Given the description of an element on the screen output the (x, y) to click on. 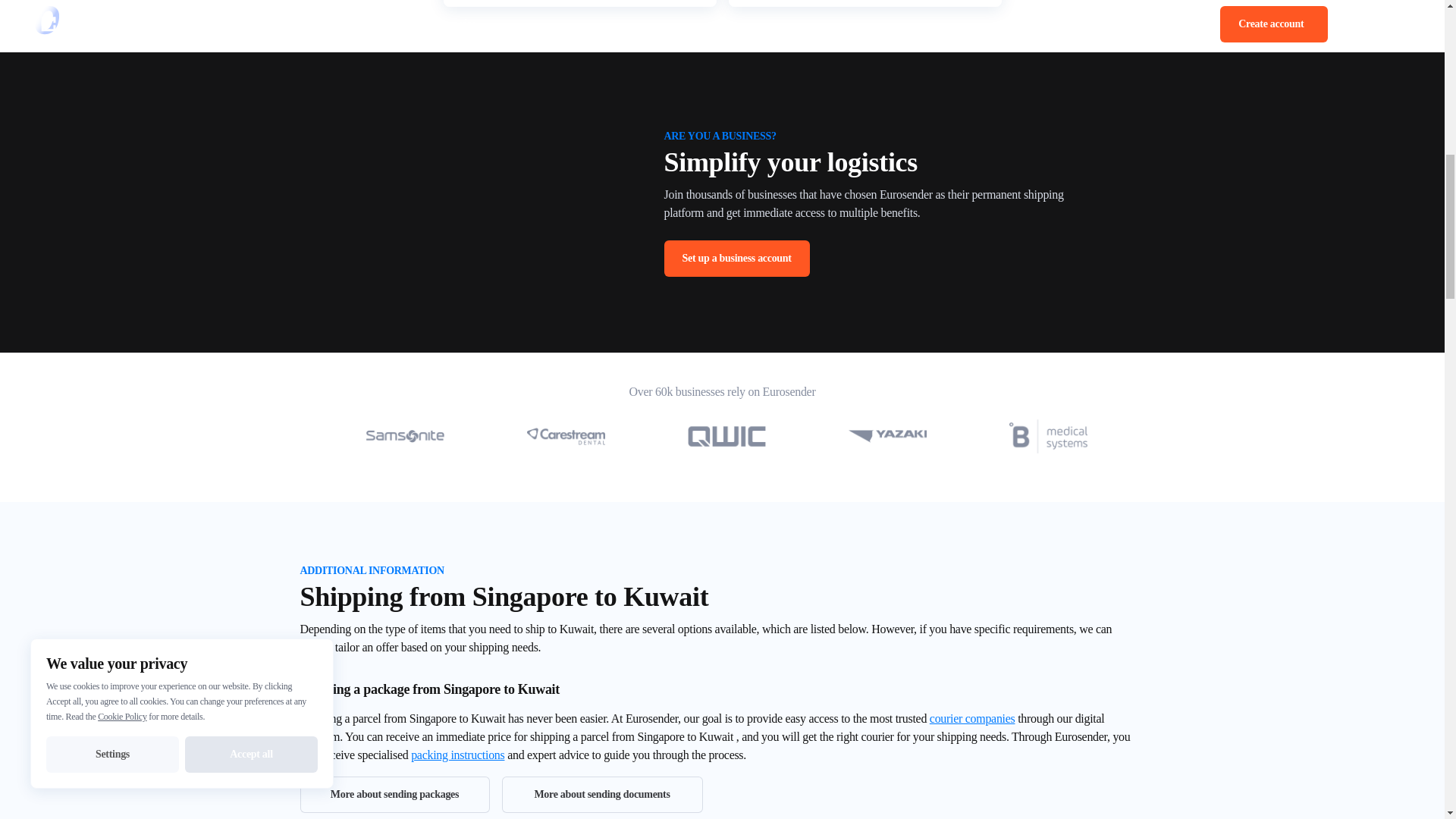
More about sending documents (602, 794)
More about sending packages (394, 794)
packing instructions (456, 754)
Set up a business account (736, 258)
courier companies (972, 717)
